Given the description of an element on the screen output the (x, y) to click on. 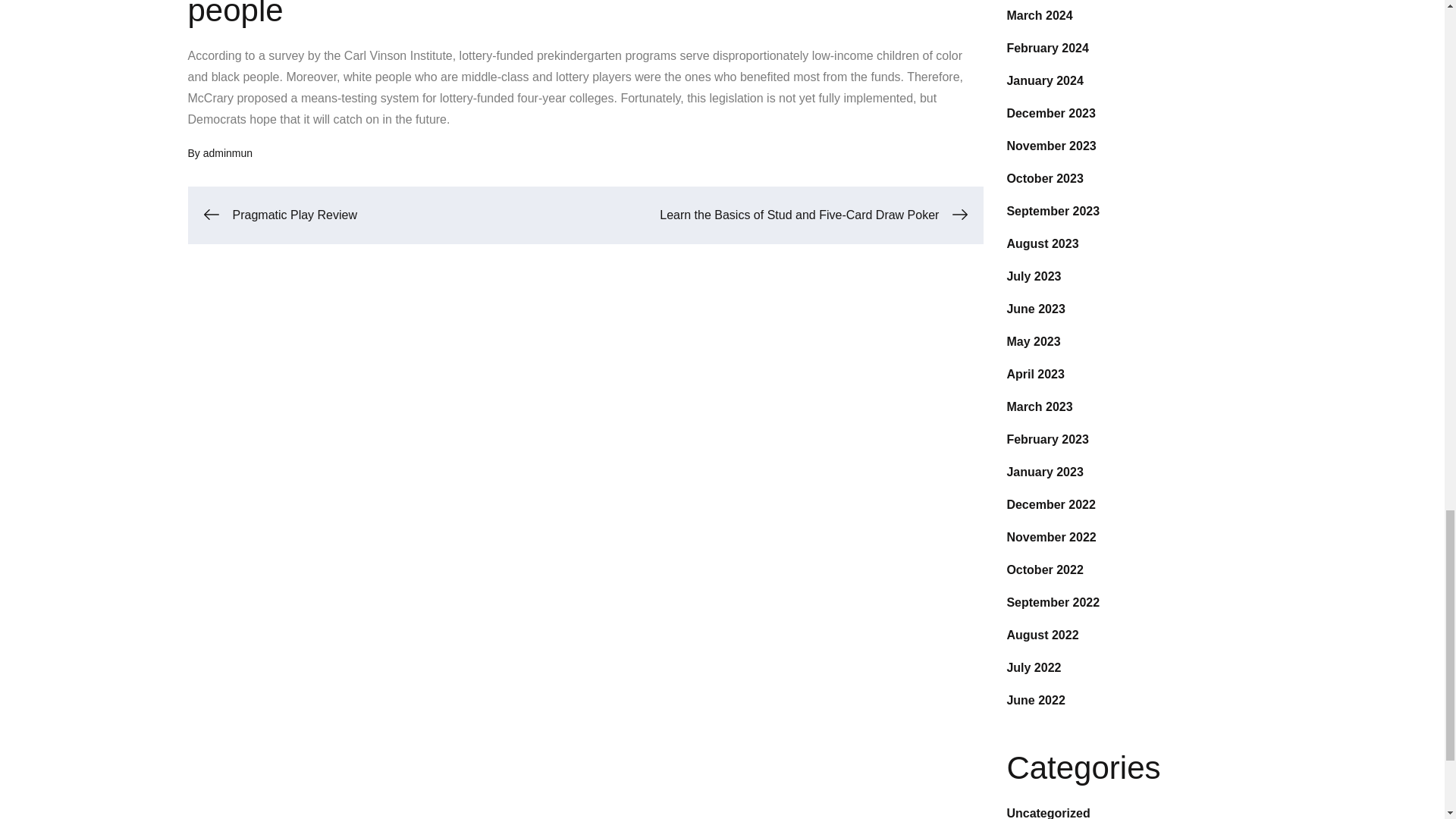
October 2023 (1044, 178)
December 2022 (1050, 504)
December 2023 (1050, 113)
August 2023 (1042, 243)
November 2022 (1051, 536)
January 2024 (1044, 80)
March 2024 (1038, 15)
May 2023 (1032, 341)
April 2023 (1035, 373)
January 2023 (1044, 472)
